Given the description of an element on the screen output the (x, y) to click on. 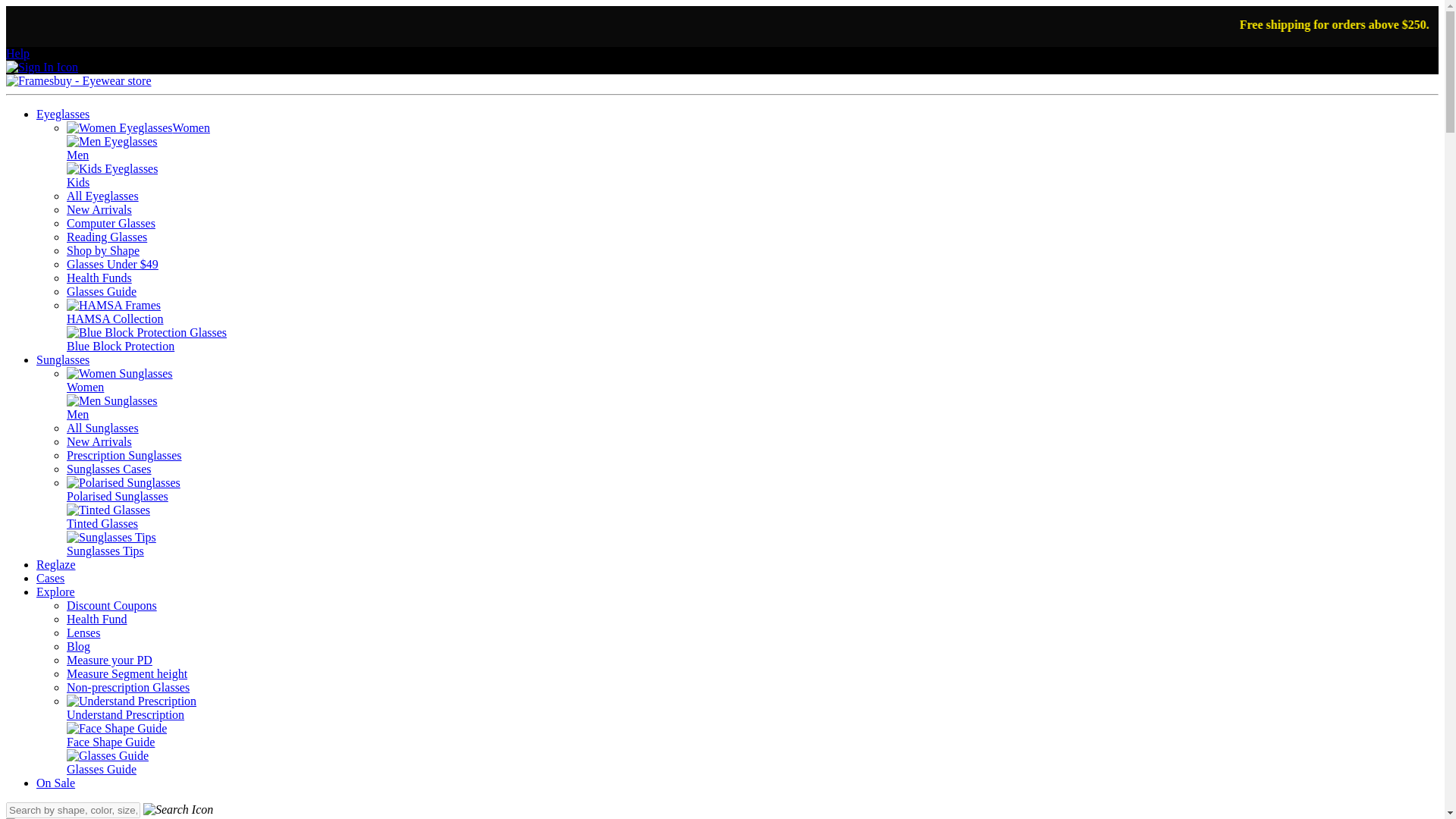
Help (17, 52)
Blog (78, 645)
Discount Coupons (111, 604)
Men (111, 148)
Men (111, 406)
Sunglasses Cases (108, 468)
Shop by Shape (102, 250)
Kids (111, 175)
Eyeglasses (62, 113)
Prescription Sunglasses (124, 454)
All Sunglasses (102, 427)
Health Funds (99, 277)
Sunglasses (62, 359)
All Eyeglasses (102, 195)
Reading Glasses (106, 236)
